Given the description of an element on the screen output the (x, y) to click on. 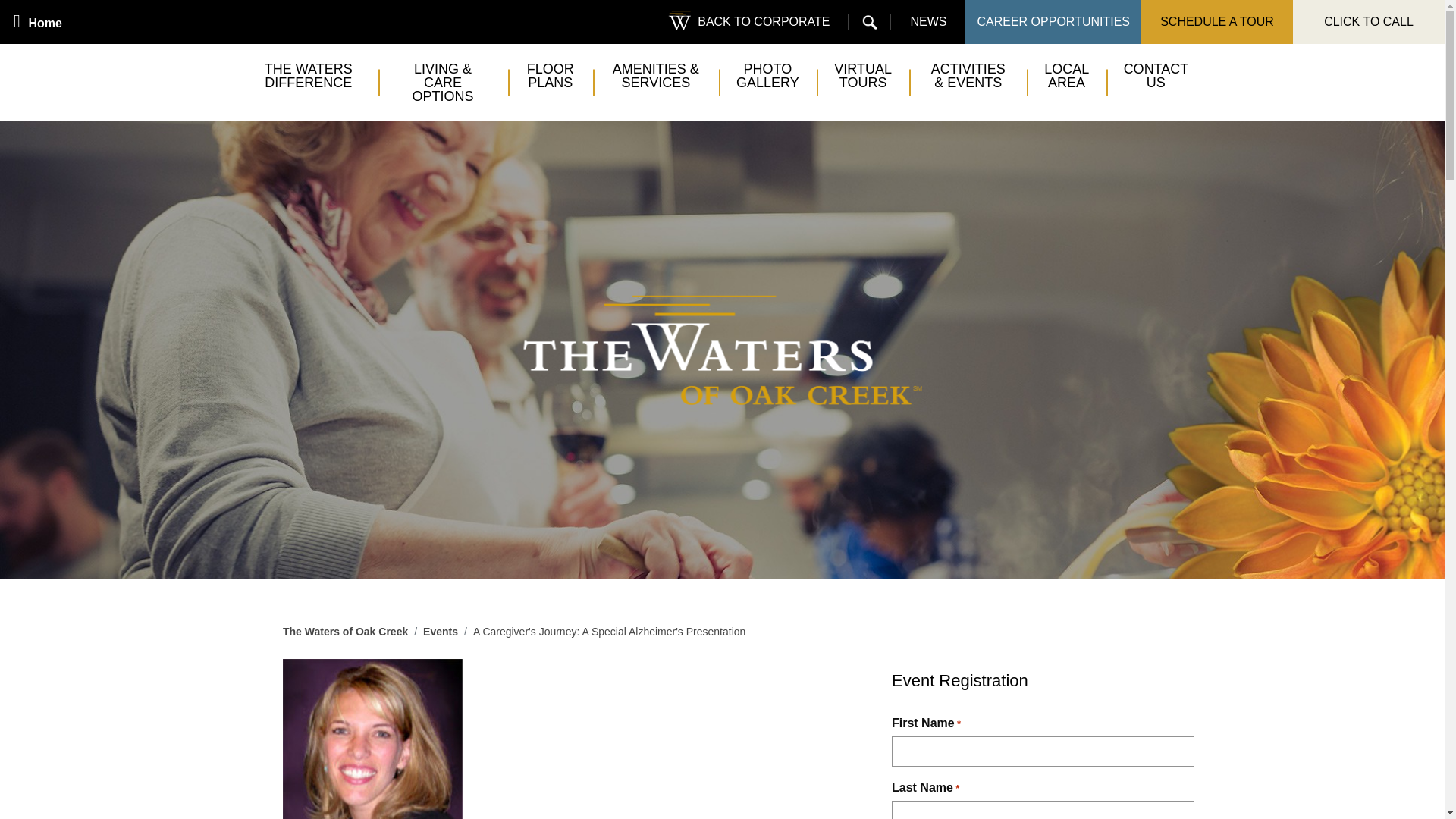
FLOOR PLANS (550, 75)
CONTACT US (1155, 75)
BACK TO CORPORATE (748, 22)
THE WATERS DIFFERENCE (308, 75)
Home (37, 22)
VIRTUAL TOURS (863, 75)
PHOTO GALLERY (767, 75)
LOCAL AREA (1065, 75)
